Given the description of an element on the screen output the (x, y) to click on. 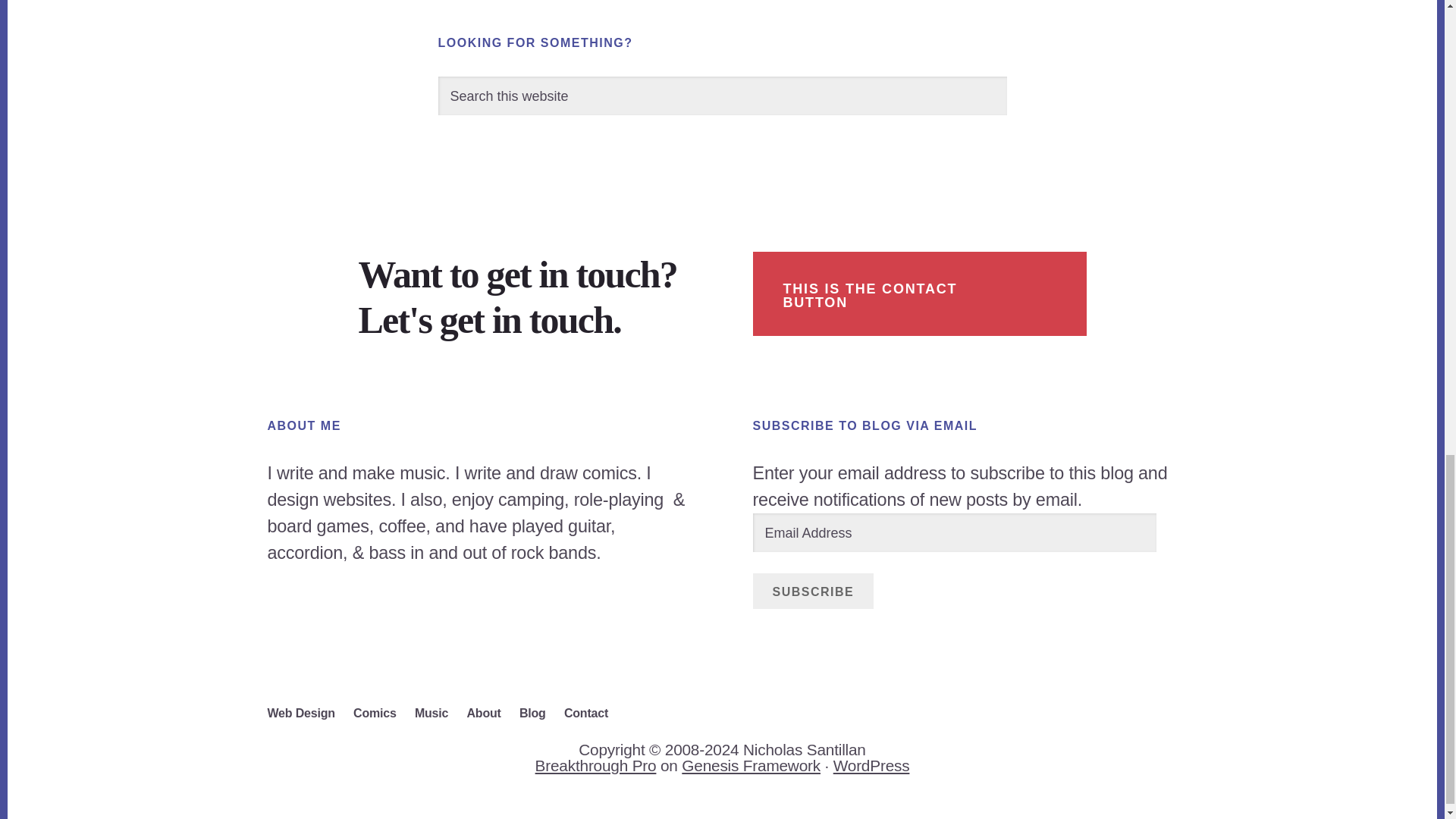
SUBSCRIBE (812, 591)
Contact (593, 713)
About (490, 713)
Blog (539, 713)
Comics (382, 713)
Web Design (307, 713)
Music (438, 713)
